Given the description of an element on the screen output the (x, y) to click on. 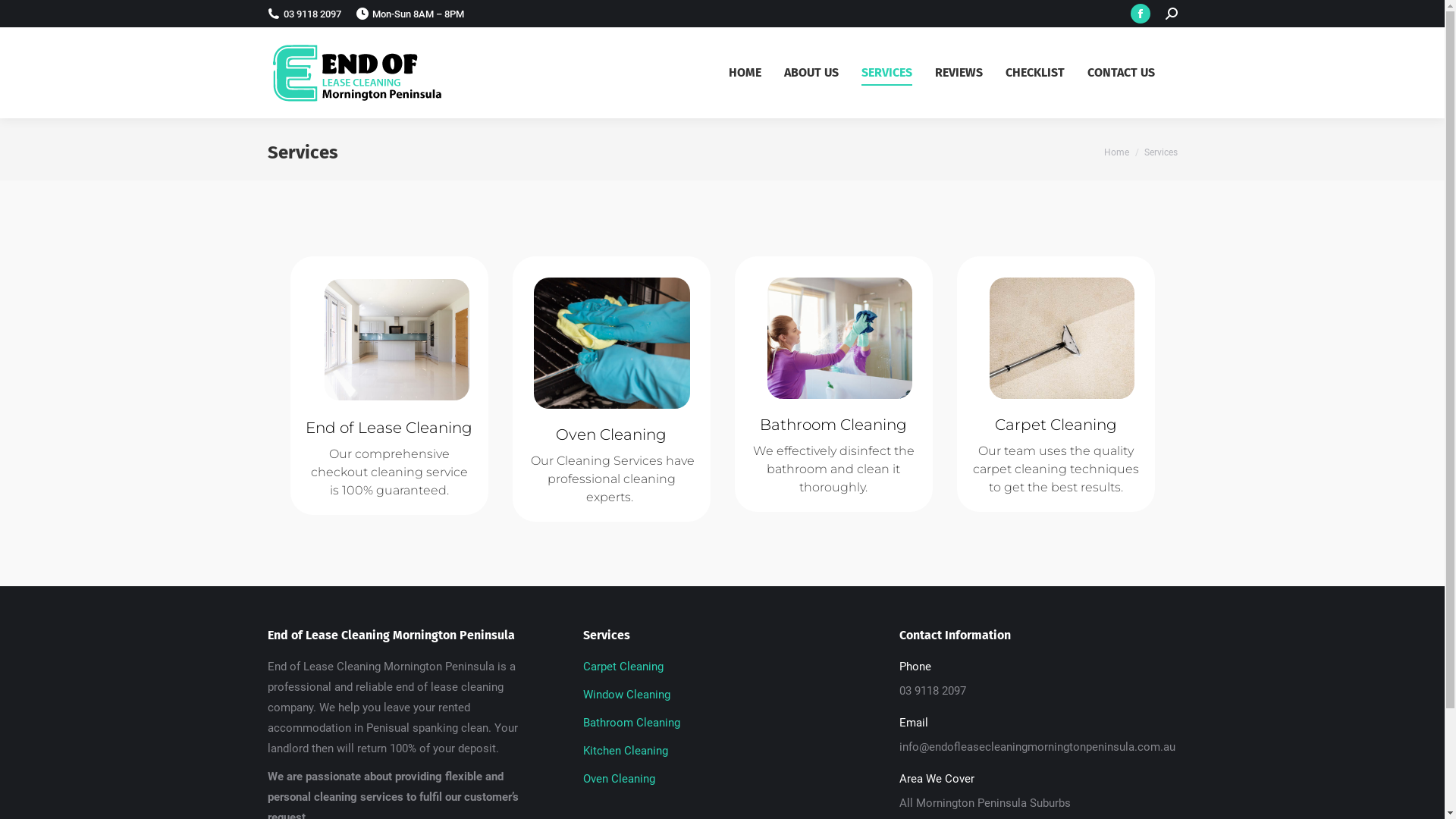
Go! Element type: text (31, 15)
HOME Element type: text (755, 72)
Window Cleaning Element type: text (722, 698)
Oven Cleaning Element type: text (722, 778)
REVIEWS Element type: text (969, 72)
CONTACT US Element type: text (1132, 72)
Carpet Cleaning Element type: text (722, 670)
Facebook page opens in new window Element type: text (1139, 13)
Kitchen Cleaning Element type: text (722, 754)
Home Element type: text (1116, 152)
ABOUT US Element type: text (822, 72)
Bathroom Cleaning Element type: text (722, 726)
SERVICES Element type: text (898, 72)
CHECKLIST Element type: text (1046, 72)
